Given the description of an element on the screen output the (x, y) to click on. 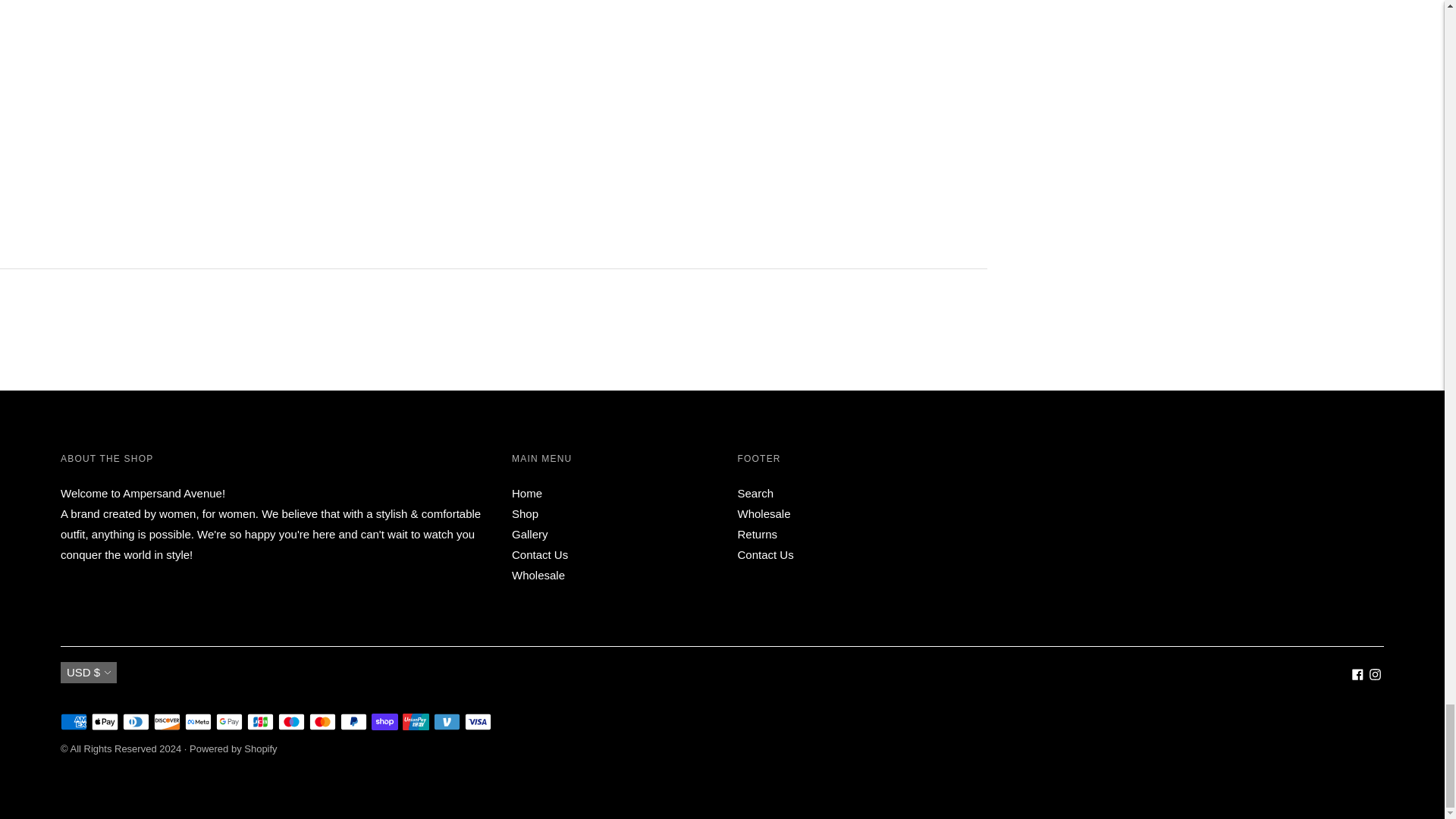
Shop Pay (384, 721)
Maestro (291, 721)
Diners Club (135, 721)
Mastercard (322, 721)
Google Pay (229, 721)
Union Pay (416, 721)
PayPal (353, 721)
JCB (260, 721)
American Express (74, 721)
Apple Pay (104, 721)
